Given the description of an element on the screen output the (x, y) to click on. 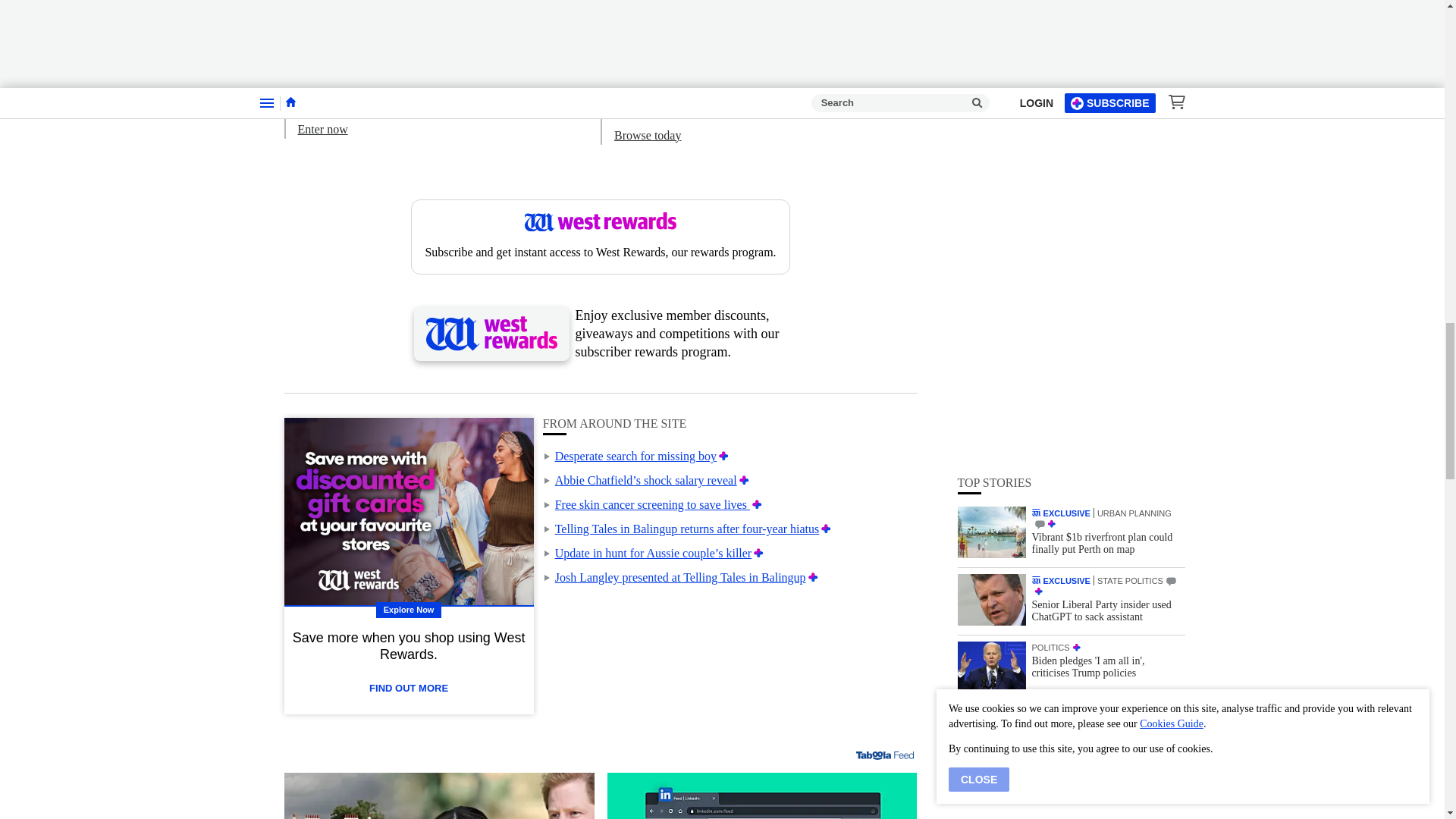
What is your writing missing? (762, 796)
